Given the description of an element on the screen output the (x, y) to click on. 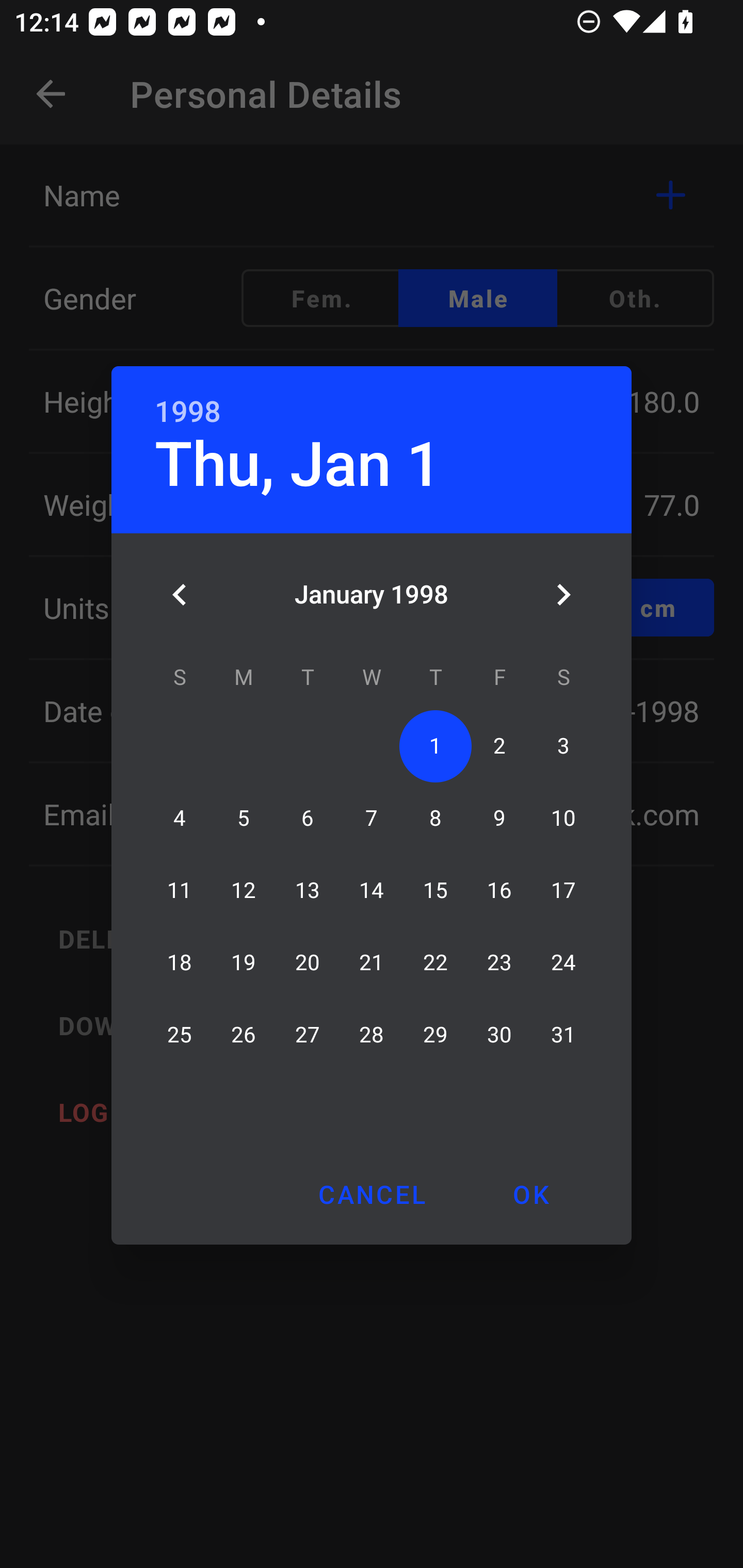
1998 (187, 412)
Thu, Jan 1 (297, 464)
Previous month (178, 594)
Next month (563, 594)
1 01 January 1998 (435, 746)
2 02 January 1998 (499, 746)
3 03 January 1998 (563, 746)
4 04 January 1998 (179, 818)
5 05 January 1998 (243, 818)
6 06 January 1998 (307, 818)
7 07 January 1998 (371, 818)
8 08 January 1998 (435, 818)
9 09 January 1998 (499, 818)
10 10 January 1998 (563, 818)
11 11 January 1998 (179, 890)
12 12 January 1998 (243, 890)
13 13 January 1998 (307, 890)
14 14 January 1998 (371, 890)
15 15 January 1998 (435, 890)
16 16 January 1998 (499, 890)
17 17 January 1998 (563, 890)
18 18 January 1998 (179, 962)
19 19 January 1998 (243, 962)
20 20 January 1998 (307, 962)
21 21 January 1998 (371, 962)
22 22 January 1998 (435, 962)
23 23 January 1998 (499, 962)
24 24 January 1998 (563, 962)
25 25 January 1998 (179, 1034)
26 26 January 1998 (243, 1034)
27 27 January 1998 (307, 1034)
28 28 January 1998 (371, 1034)
29 29 January 1998 (435, 1034)
30 30 January 1998 (499, 1034)
31 31 January 1998 (563, 1034)
CANCEL (371, 1193)
OK (530, 1193)
